Given the description of an element on the screen output the (x, y) to click on. 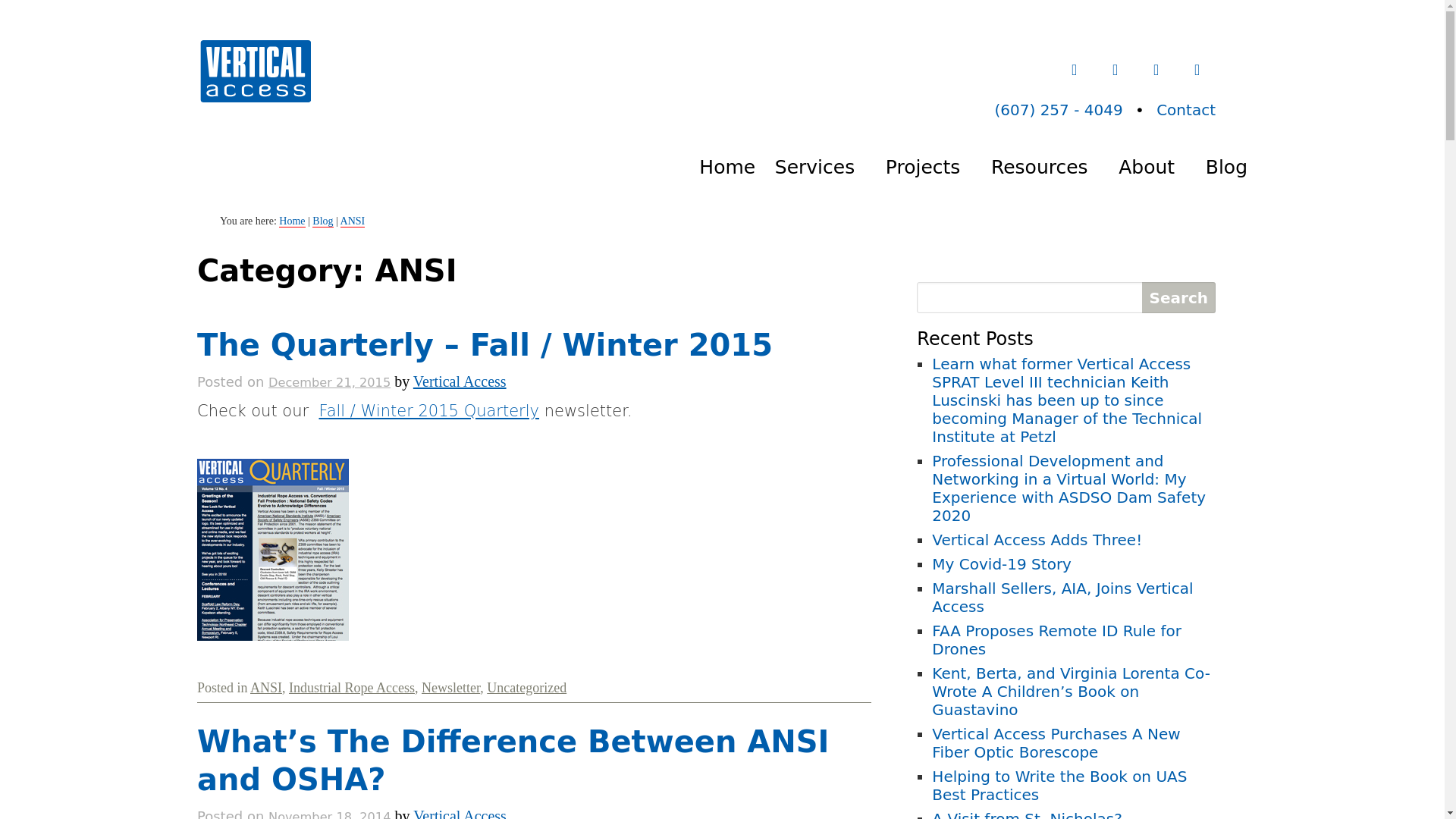
Projects (932, 166)
About (1155, 166)
Vertical Access (253, 69)
Resources (1048, 166)
Services (824, 166)
Contact (1185, 109)
Search (1178, 296)
Home (736, 166)
